Given the description of an element on the screen output the (x, y) to click on. 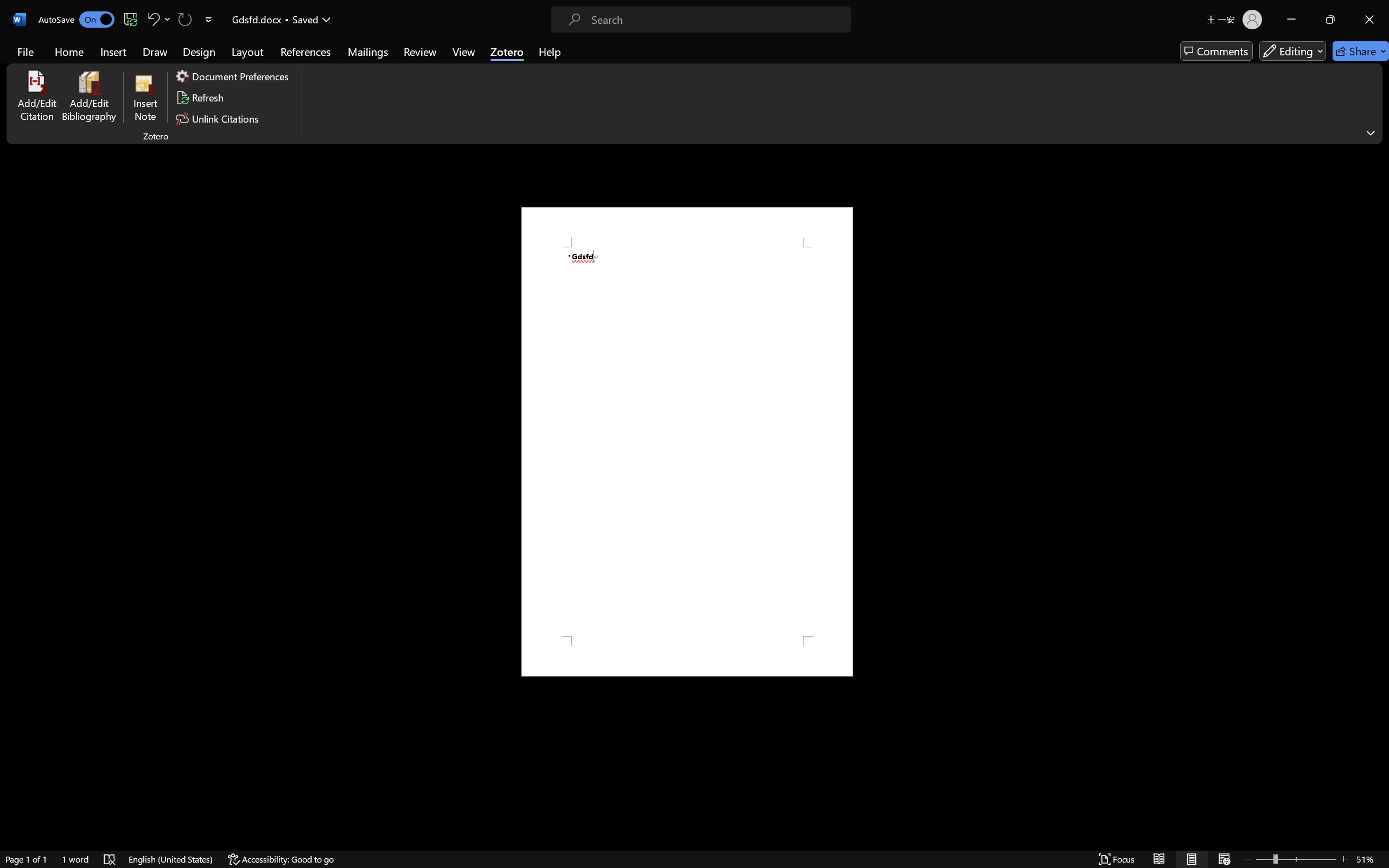
Page 1 content (686, 441)
